Given the description of an element on the screen output the (x, y) to click on. 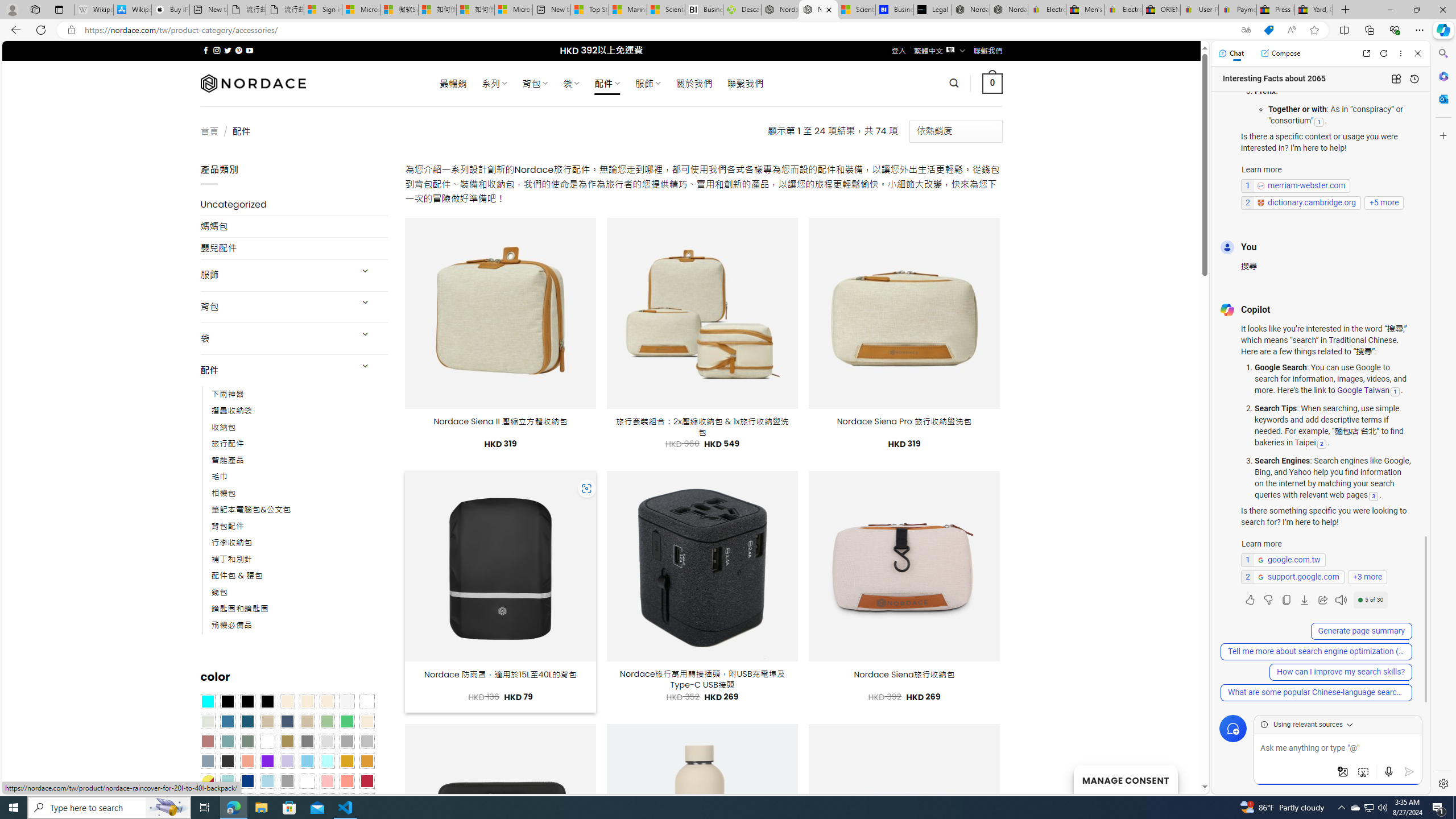
Buy iPad - Apple (171, 9)
Follow on Facebook (205, 50)
  0   (992, 83)
